Given the description of an element on the screen output the (x, y) to click on. 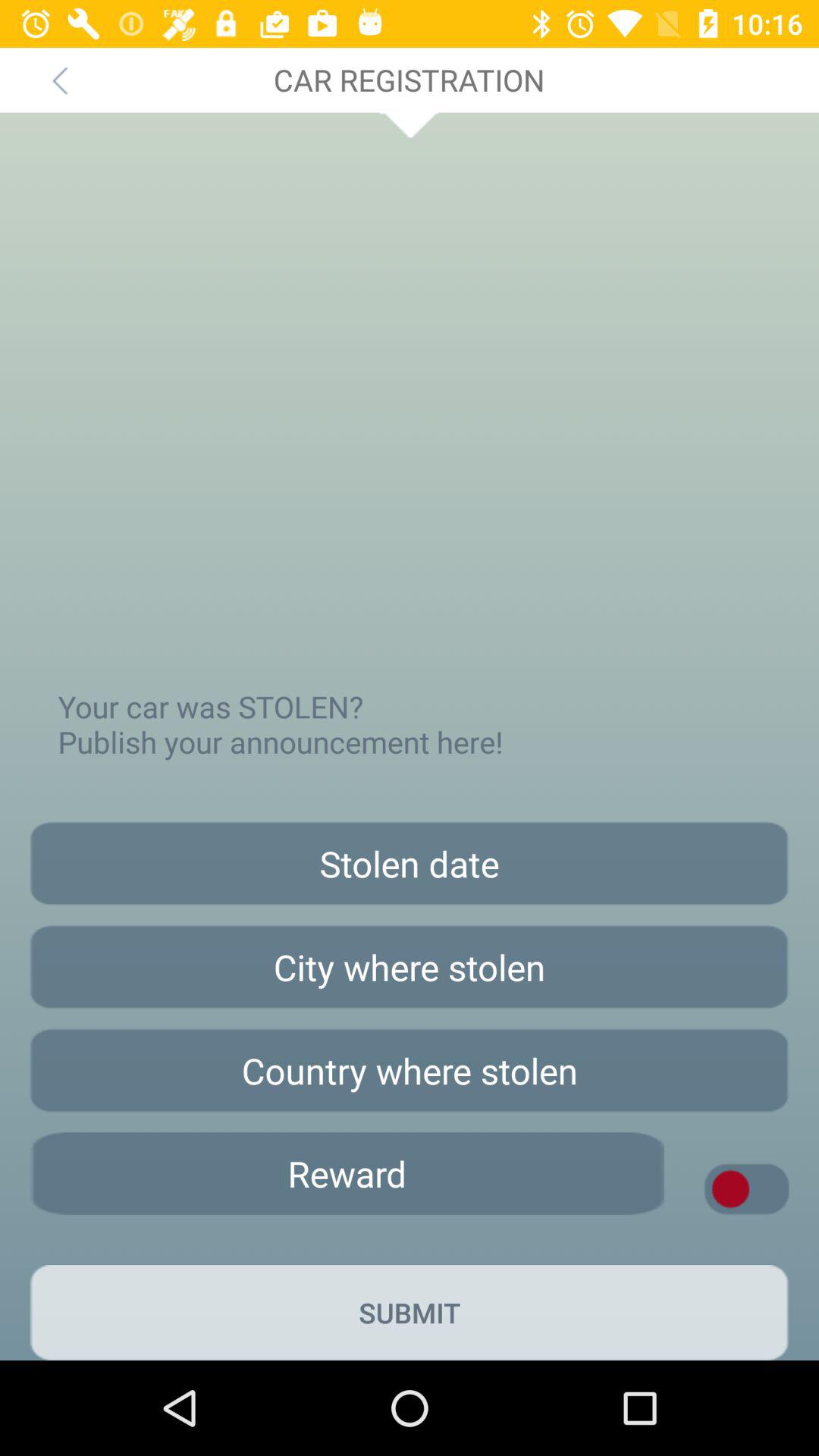
share city information (409, 966)
